Given the description of an element on the screen output the (x, y) to click on. 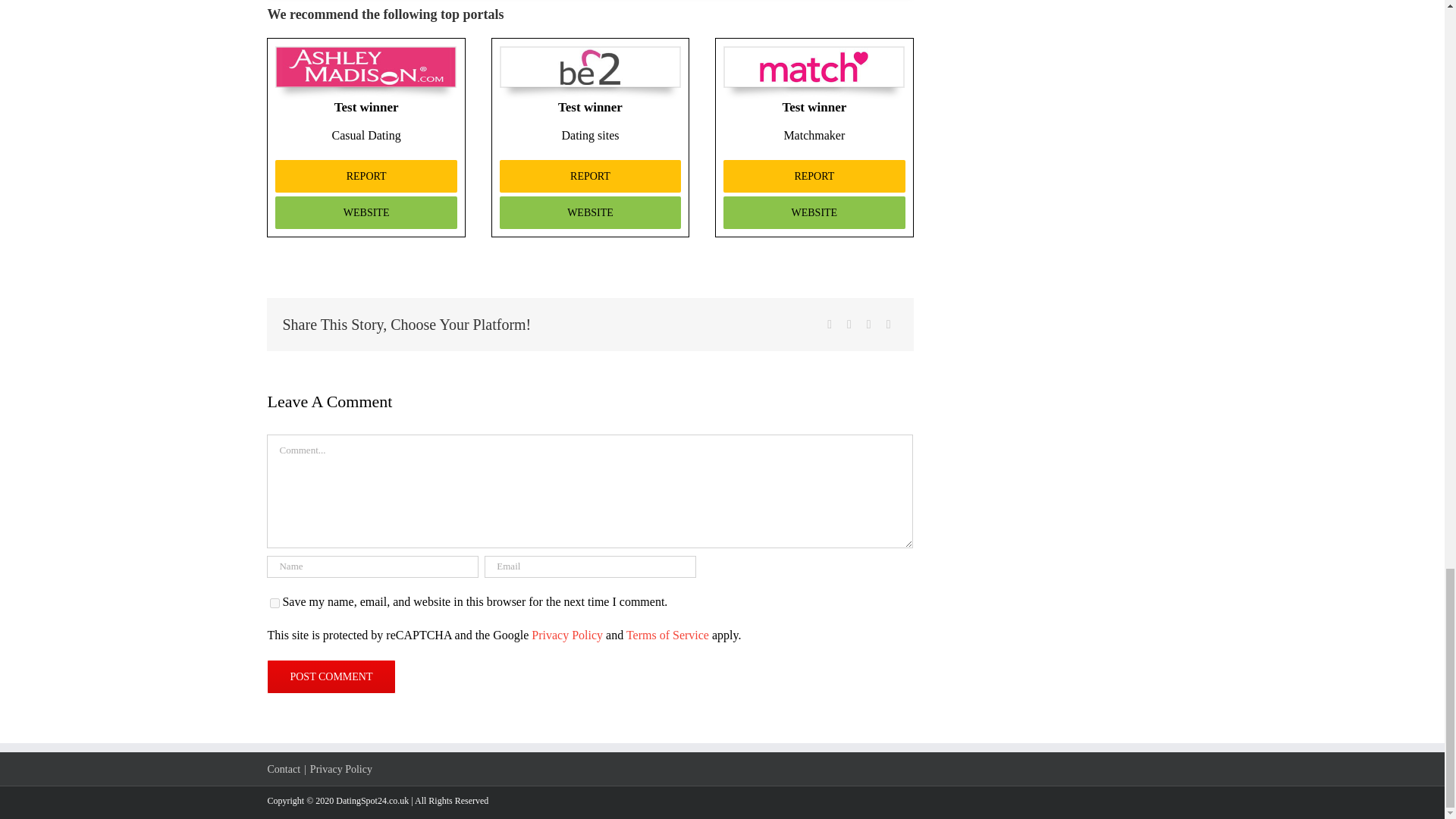
Report (590, 175)
Website (590, 212)
Post Comment (330, 676)
Report (366, 175)
yes (274, 603)
Website (813, 212)
Website (366, 212)
Report (813, 175)
